Given the description of an element on the screen output the (x, y) to click on. 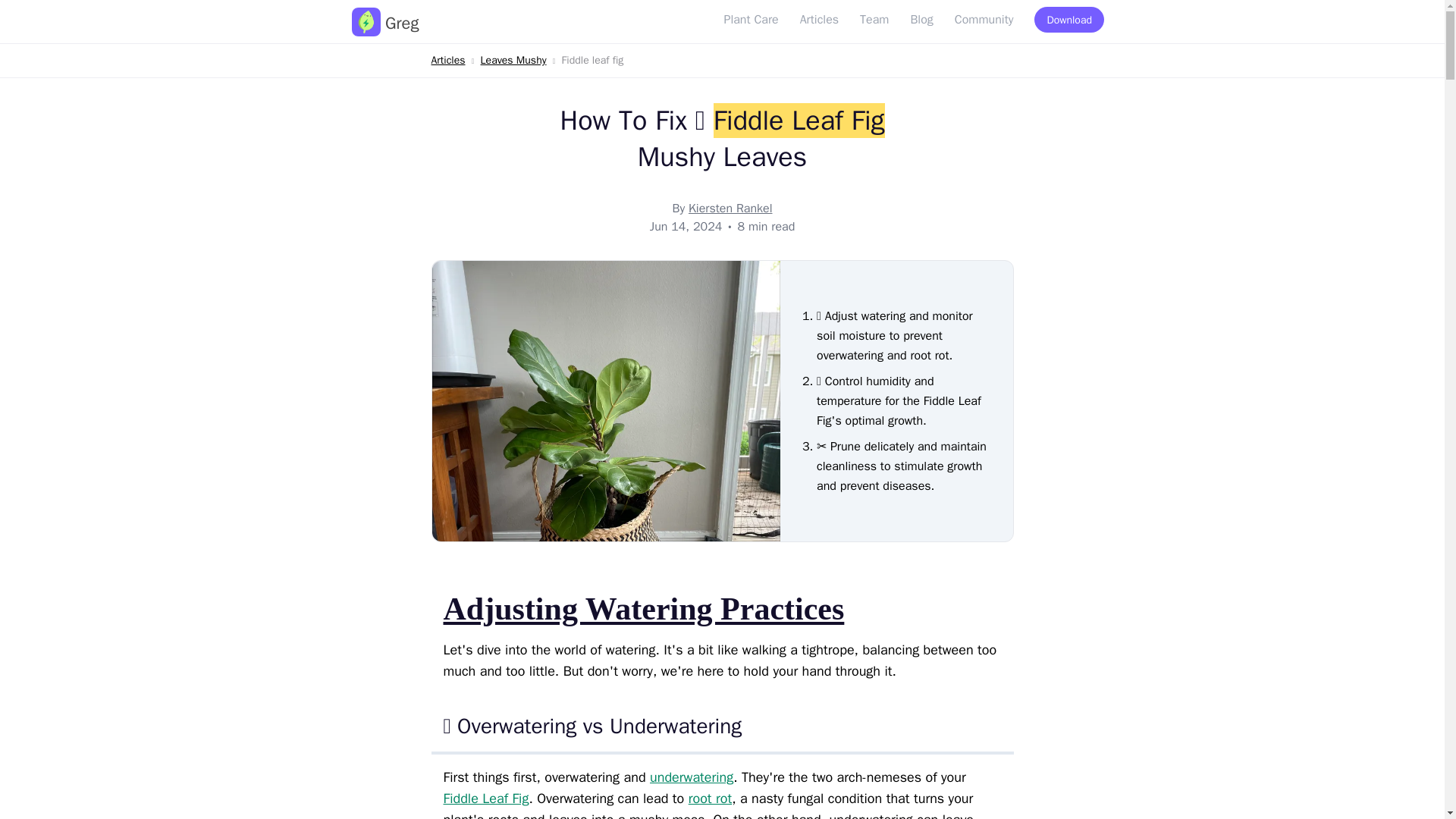
underwatering (691, 777)
Leaves Mushy (513, 60)
Plant Care (750, 19)
Team (874, 19)
Greg (385, 23)
Fiddle Leaf Fig (485, 798)
Community (984, 19)
Articles (818, 19)
Blog (921, 19)
root rot (710, 798)
Articles (447, 60)
Kiersten Rankel (730, 208)
Download (1069, 19)
